Given the description of an element on the screen output the (x, y) to click on. 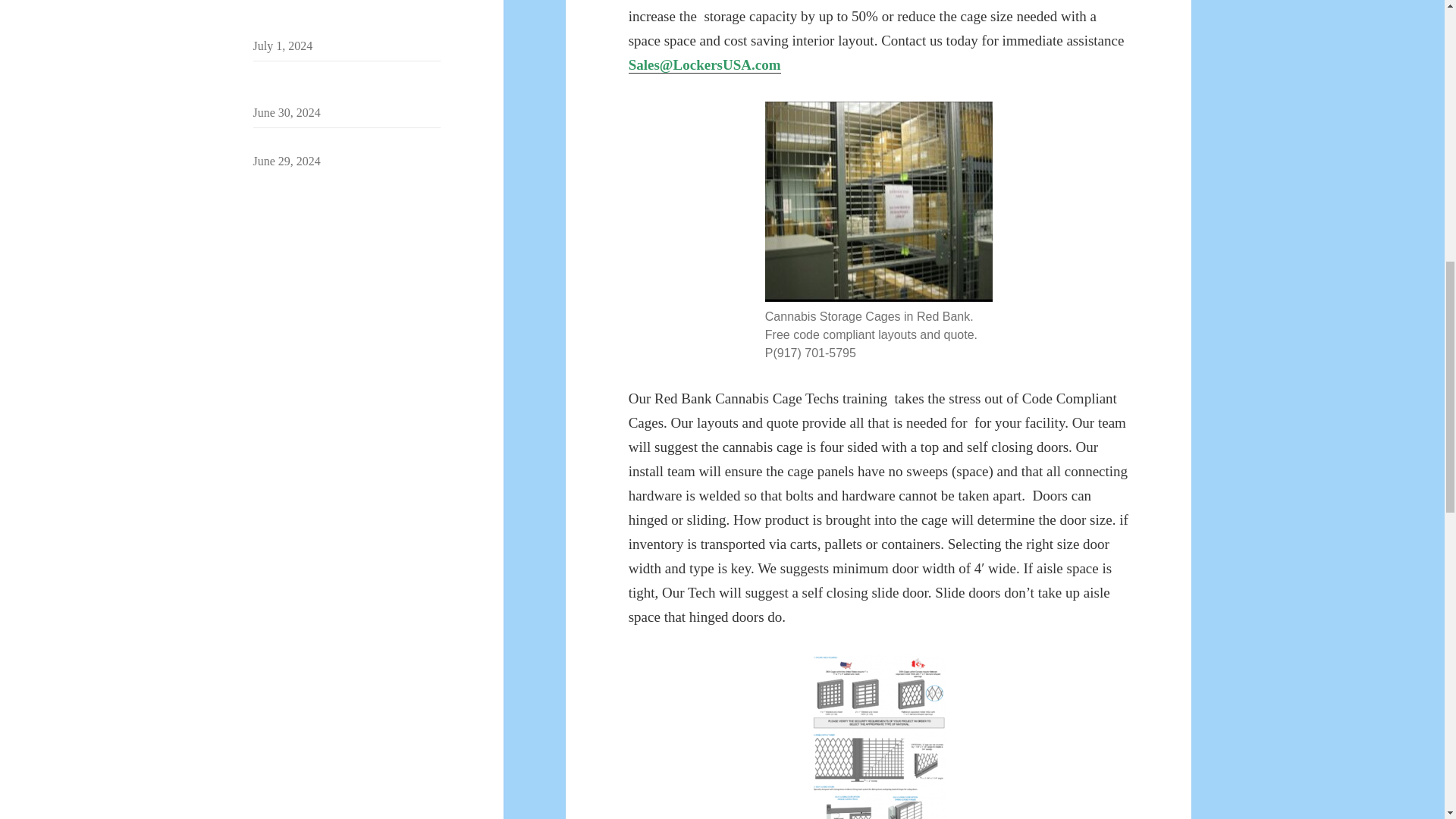
Security Storage Cages Middlesex County (336, 18)
Security Storage Cages Ocean County (346, 142)
Security Storage Cages Monmouth County (338, 84)
